Given the description of an element on the screen output the (x, y) to click on. 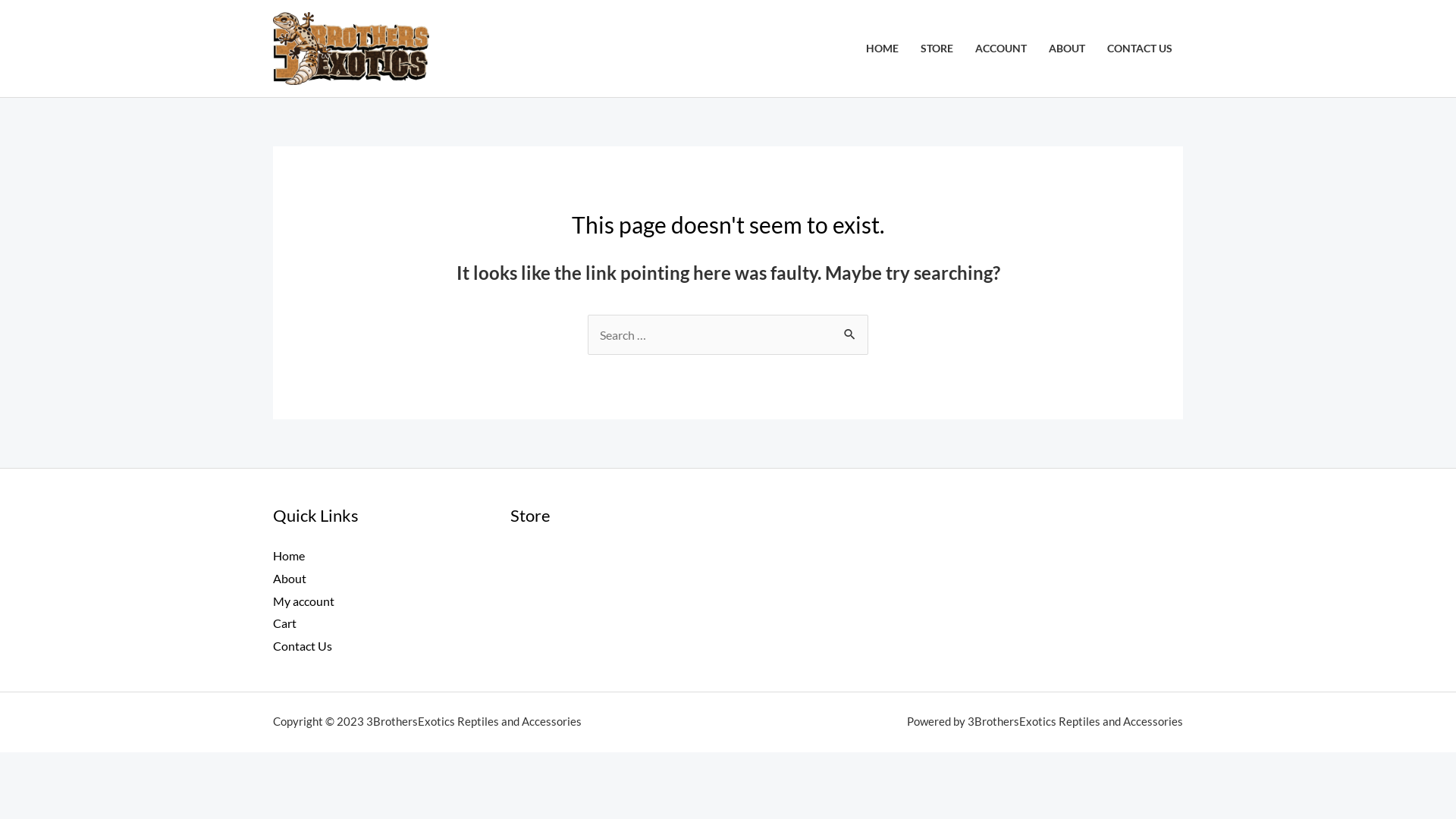
Home Element type: text (288, 555)
My account Element type: text (303, 600)
STORE Element type: text (937, 48)
CONTACT US Element type: text (1139, 48)
ACCOUNT Element type: text (1001, 48)
ABOUT Element type: text (1066, 48)
Cart Element type: text (284, 622)
Contact Us Element type: text (302, 645)
Search Element type: text (851, 329)
About Element type: text (289, 578)
HOME Element type: text (882, 48)
